Given the description of an element on the screen output the (x, y) to click on. 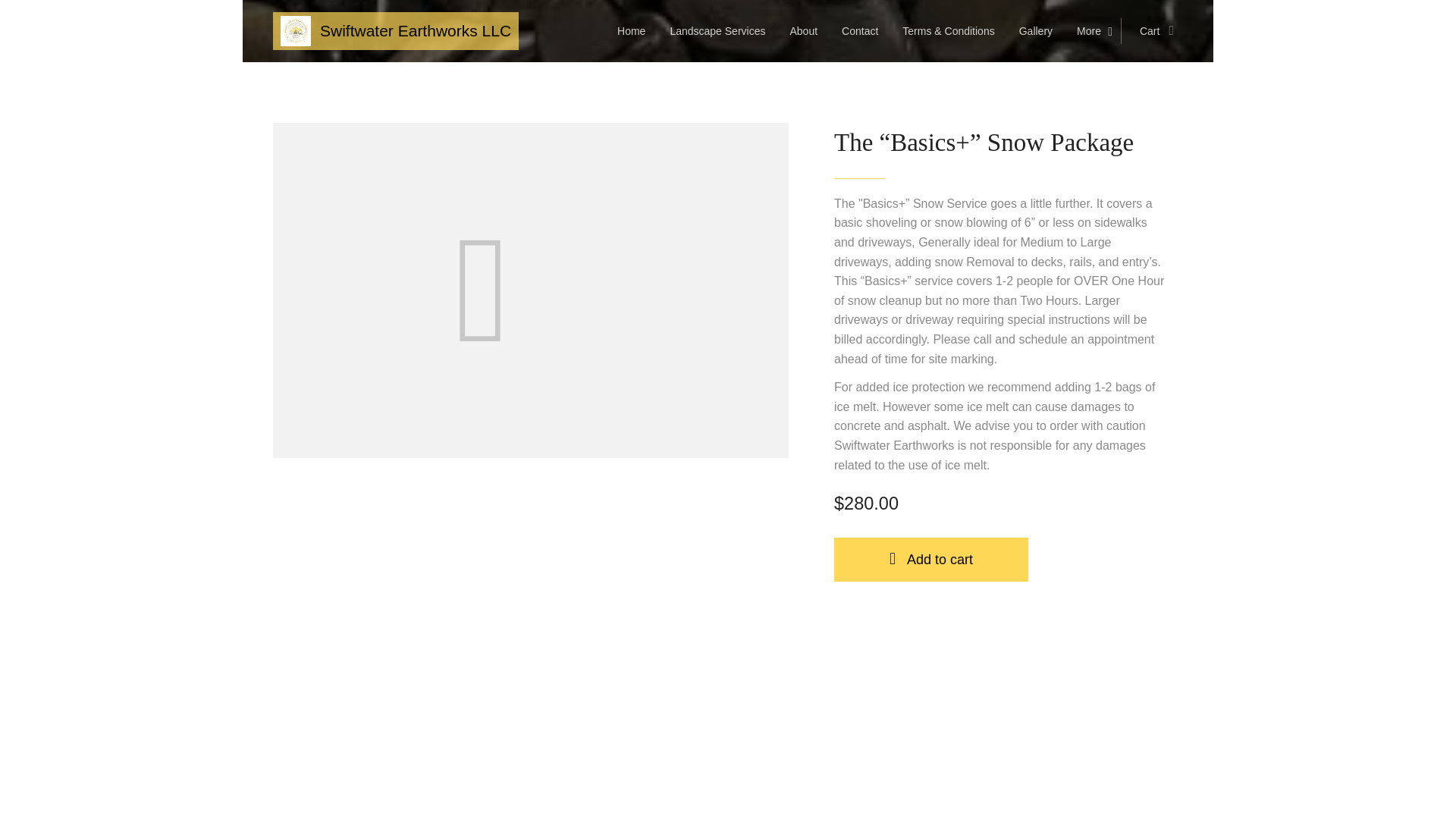
Contact (859, 30)
Add to cart (930, 559)
More (1092, 30)
Gallery (1035, 30)
Cart (1151, 30)
Landscape Services (717, 30)
Home (635, 30)
About (803, 30)
Swiftwater Earthworks LLC (395, 30)
